Given the description of an element on the screen output the (x, y) to click on. 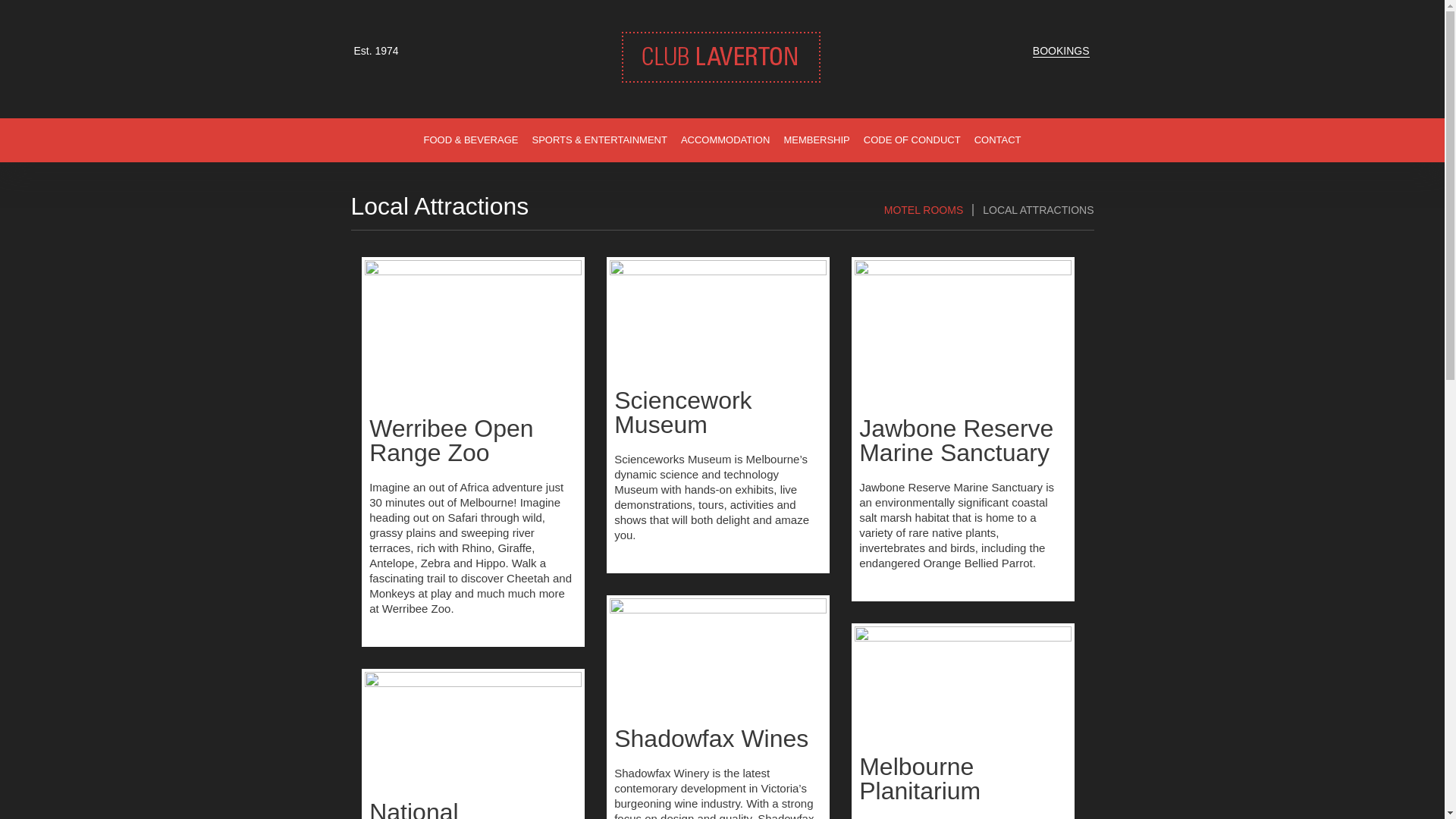
BOOKINGS (1060, 51)
LOCAL ATTRACTIONS (1033, 209)
MOTEL ROOMS (924, 209)
ACCOMMODATION (725, 139)
CONTACT (997, 139)
MEMBERSHIP (816, 139)
CODE OF CONDUCT (912, 139)
Club Laverton (721, 78)
Bookings (1060, 51)
